Given the description of an element on the screen output the (x, y) to click on. 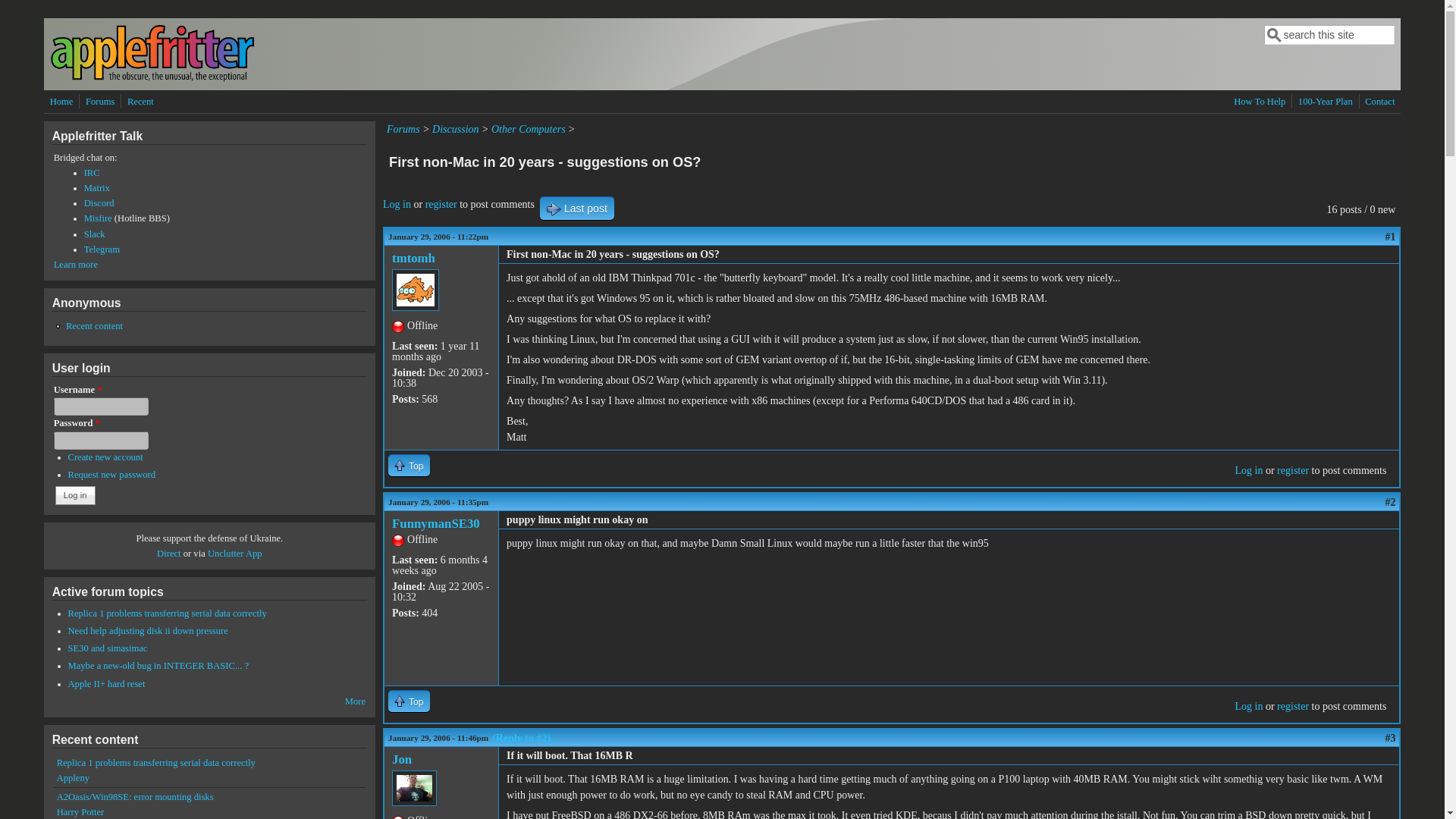
View user profile. (435, 523)
Other Computers (529, 129)
register (1292, 470)
tmtomh (413, 257)
Home (61, 101)
Home (151, 79)
Log in (1248, 706)
Top (408, 700)
Jon (401, 759)
Jon's picture (413, 787)
Jump to top of page (408, 464)
Top (408, 464)
View user profile. (413, 257)
register (441, 204)
Discussion (455, 129)
